Given the description of an element on the screen output the (x, y) to click on. 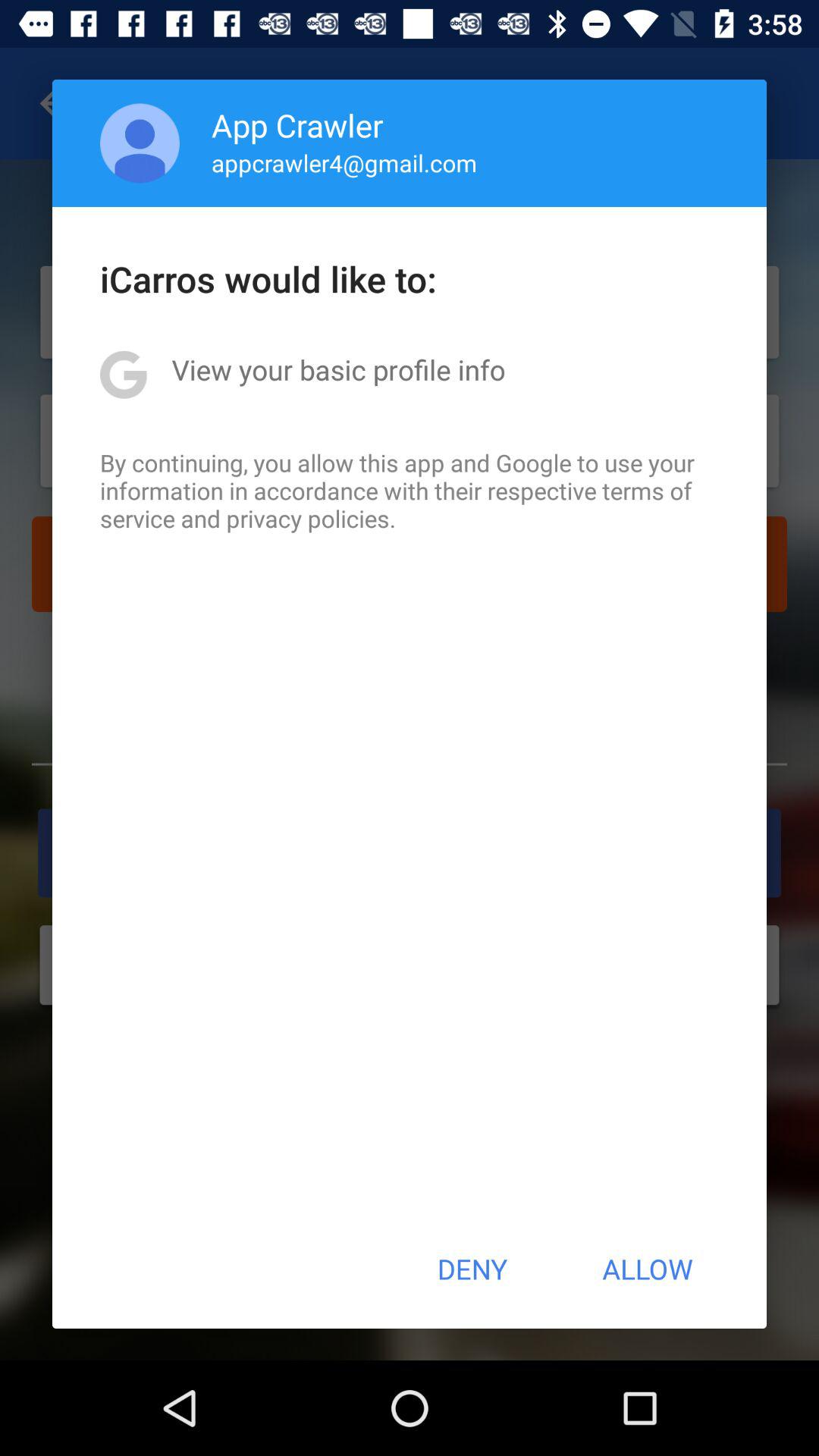
open the item at the bottom (471, 1268)
